Given the description of an element on the screen output the (x, y) to click on. 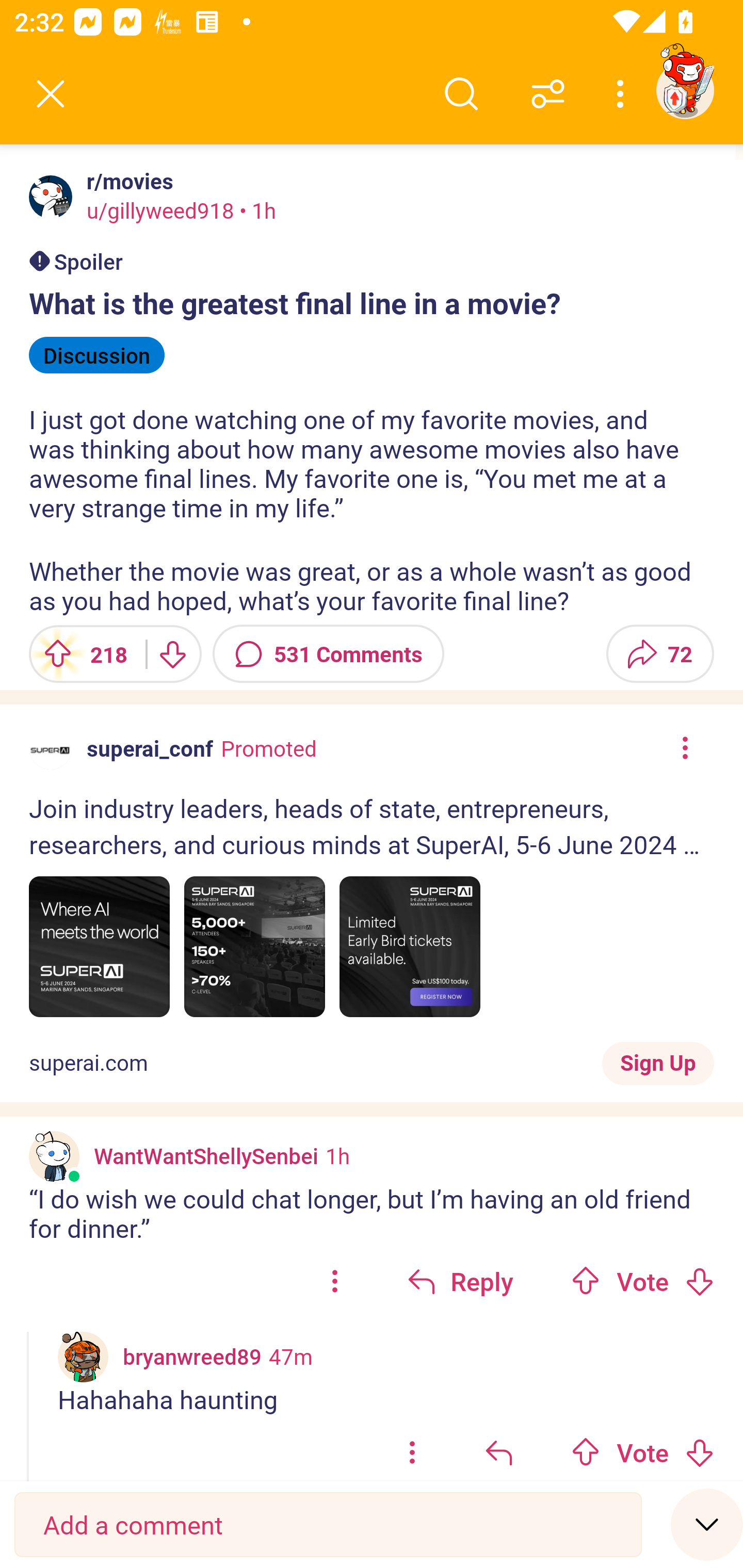
Back (50, 93)
TestAppium002 account (685, 90)
Search comments (460, 93)
Sort comments (547, 93)
More options (623, 93)
r/movies (126, 181)
Avatar (50, 196)
u/gillyweed918 (160, 210)
Discussion (96, 355)
Upvote 218 (79, 653)
Downvote (171, 653)
531 Comments (328, 653)
Share 72 (660, 653)
Image 1 of 3. Register now for just US$399 (98, 946)
Image 2 of 3. Explore the next wave of AI tech (254, 946)
Image 3 of 3. Be early and save US$100 today (409, 946)
Custom avatar (53, 1156)
1h (337, 1155)
options (334, 1280)
Reply (460, 1280)
Upvote Vote Downvote (642, 1280)
Upvote (585, 1280)
Downvote (699, 1280)
Custom avatar (82, 1356)
47m (290, 1356)
Hahahaha haunting (385, 1398)
options (412, 1448)
Upvote Vote Downvote (642, 1448)
Upvote (585, 1452)
Downvote (699, 1452)
Speed read (706, 1524)
Add a comment (327, 1524)
